Given the description of an element on the screen output the (x, y) to click on. 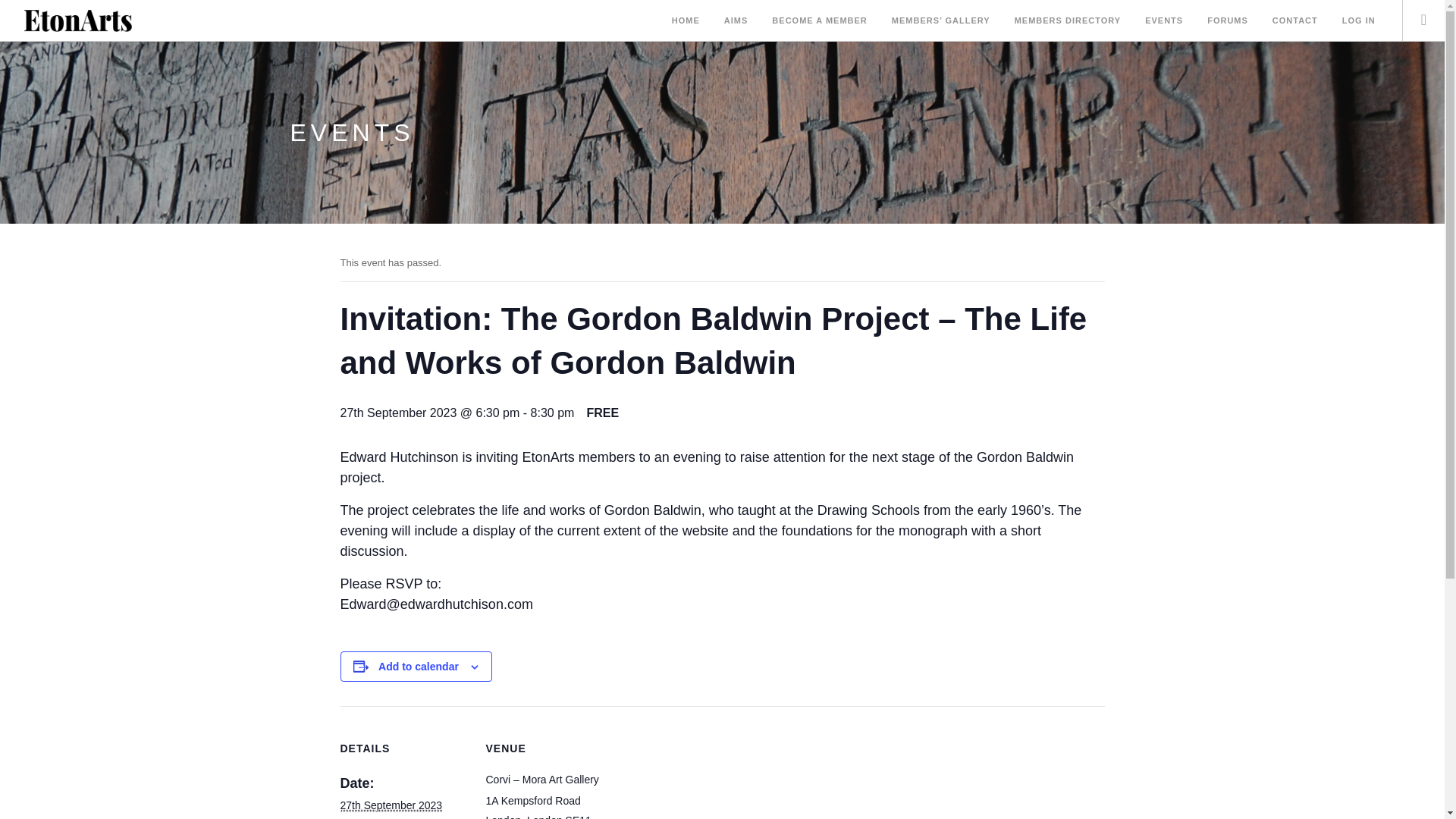
MEMBERS DIRECTORY (1067, 21)
Add to calendar (418, 666)
CONTACT (1294, 21)
BECOME A MEMBER (818, 21)
London (544, 816)
EVENTS (1163, 21)
2023-09-27 (390, 805)
FORUMS (1227, 21)
